Given the description of an element on the screen output the (x, y) to click on. 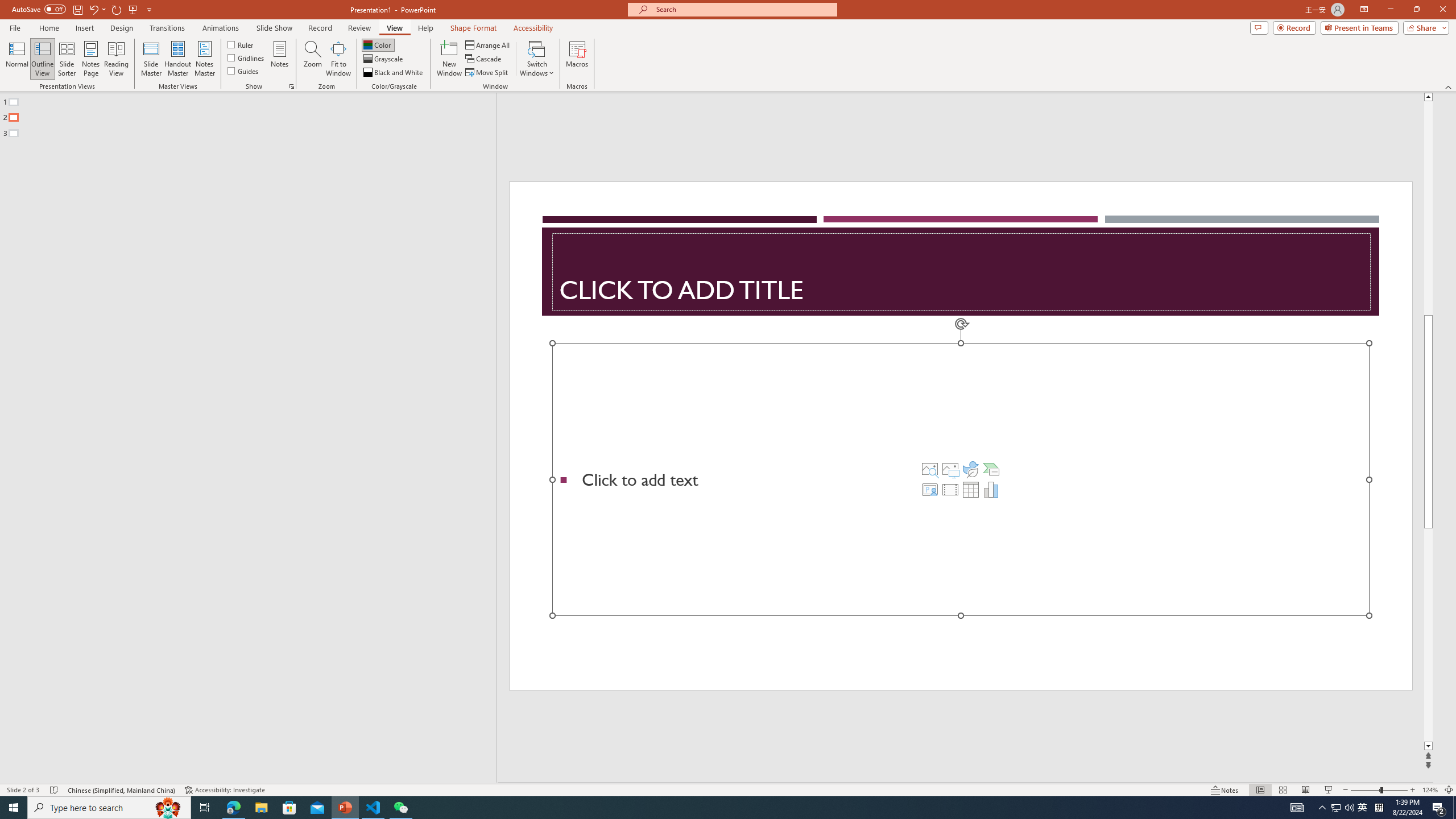
Guides (243, 69)
Zoom... (312, 58)
Notes (279, 58)
Handout Master (177, 58)
